Given the description of an element on the screen output the (x, y) to click on. 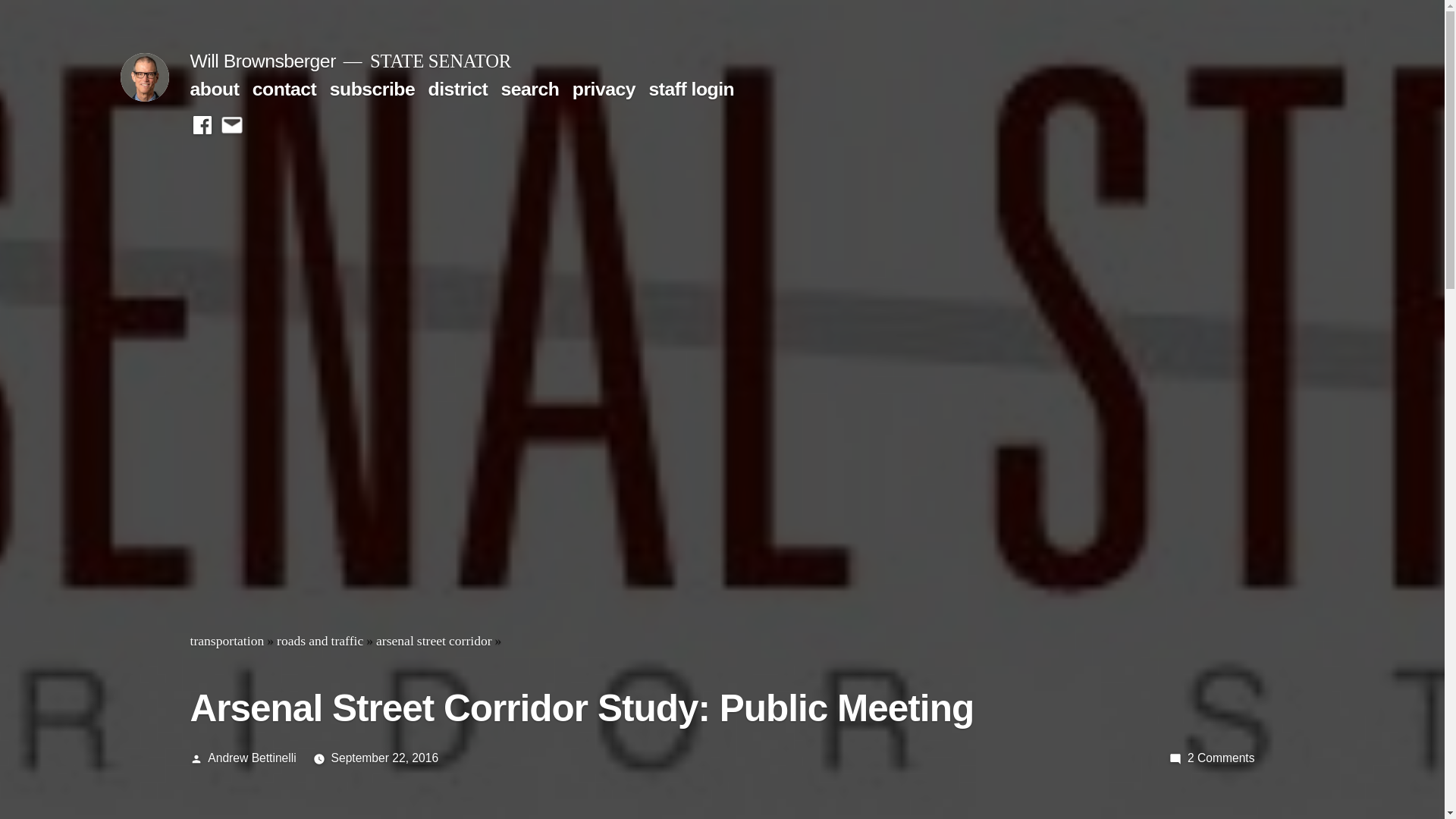
facebook (201, 125)
September 22, 2016 (385, 757)
roads and traffic (319, 641)
about (213, 88)
Will Brownsberger (261, 60)
search (529, 88)
staff login (690, 88)
subscribe (372, 88)
privacy (1221, 757)
